Given the description of an element on the screen output the (x, y) to click on. 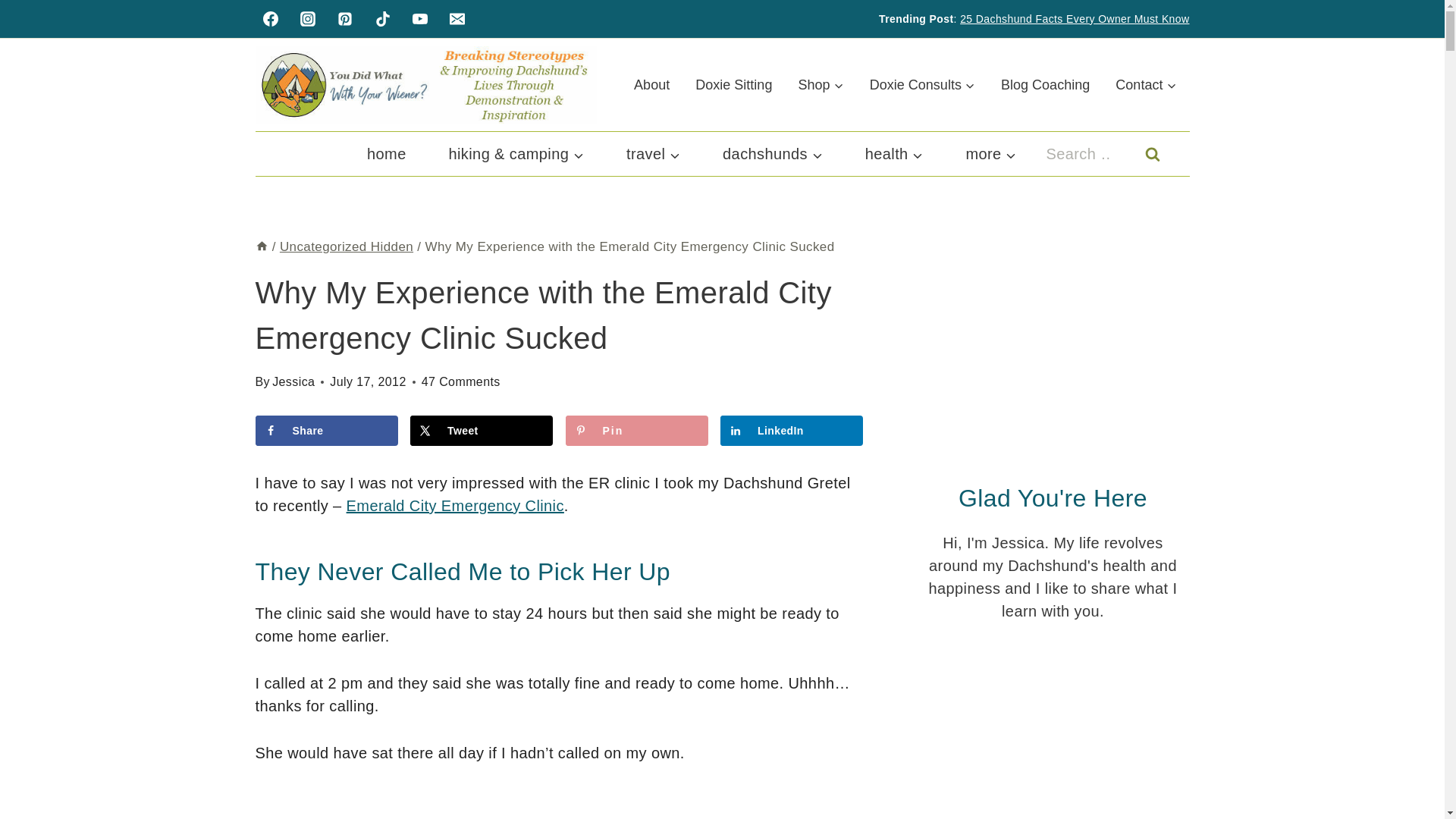
Search (1151, 153)
Share on LinkedIn (791, 430)
Contact (1145, 84)
Doxie Sitting (733, 84)
dachshunds (772, 153)
47 Comments (461, 382)
Share on Facebook (325, 430)
Home (260, 246)
About (651, 84)
Blog Coaching (1045, 84)
